Given the description of an element on the screen output the (x, y) to click on. 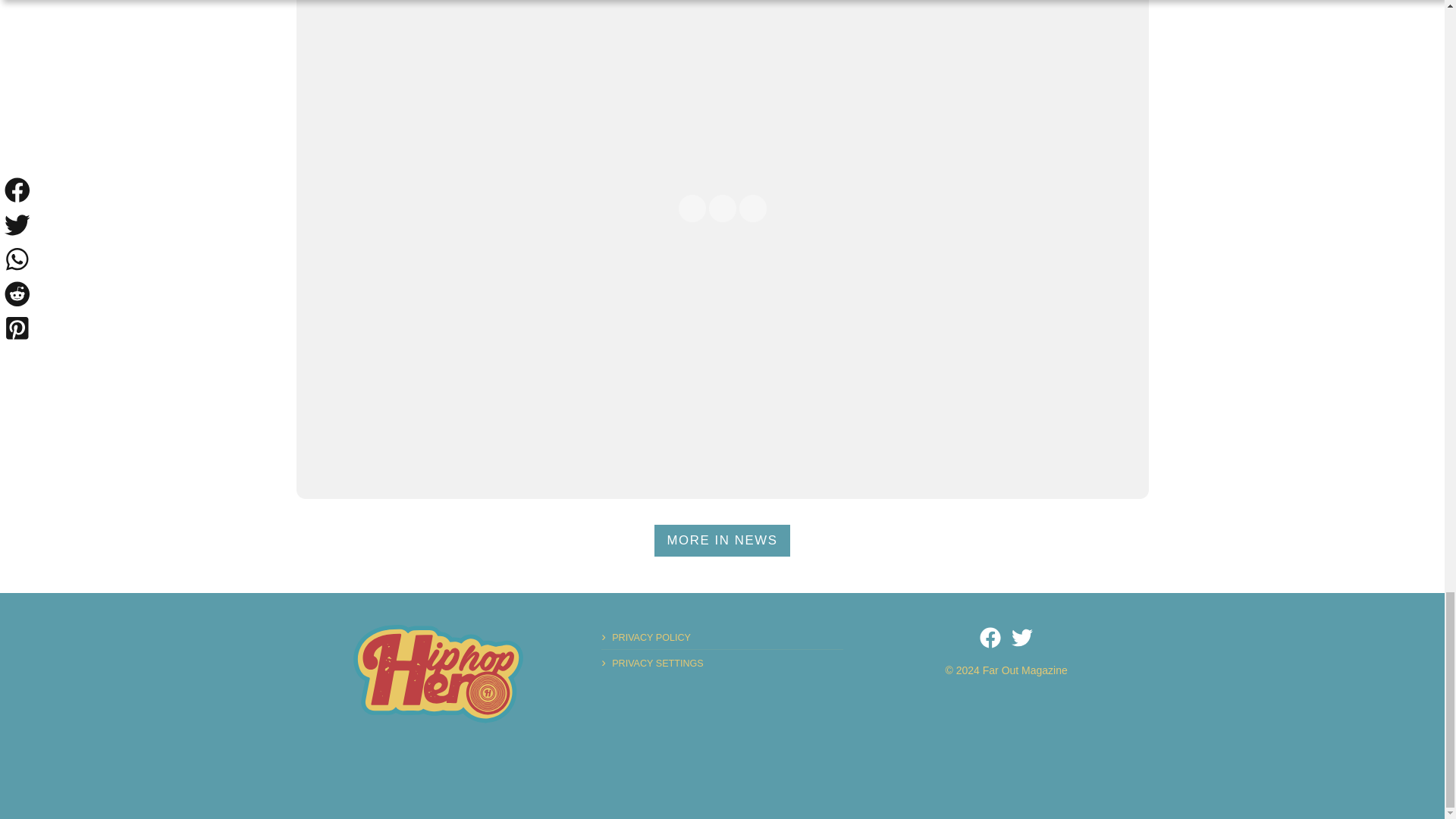
More in News (721, 540)
Hip Hop Hero on Twitter (1021, 637)
Hip Hop Hero on Facebook (990, 637)
Hip Hop Hero (438, 673)
